Given the description of an element on the screen output the (x, y) to click on. 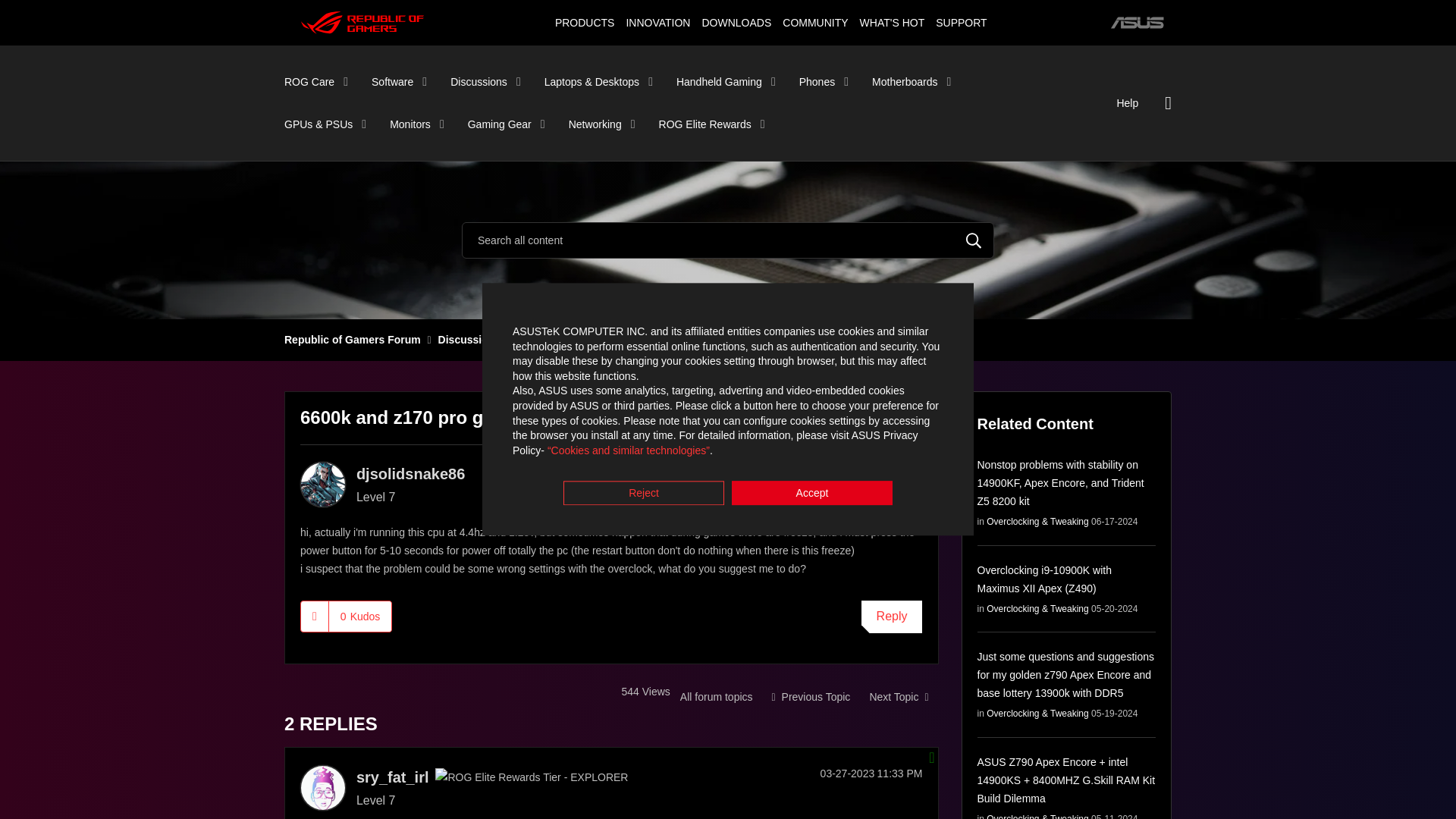
COMMUNITY (815, 22)
Click here to give kudos to this post. (315, 615)
INNOVATION (657, 22)
The total number of kudos this post has received. (360, 615)
DOWNLOADS (736, 22)
Search (973, 239)
Search (727, 239)
QFan in bios and changing the temperature sensor (898, 696)
djsolidsnake86 (322, 483)
PRODUCTS (584, 22)
Search (973, 239)
ROG Elite Rewards Tier - EXPLORER (531, 777)
